Given the description of an element on the screen output the (x, y) to click on. 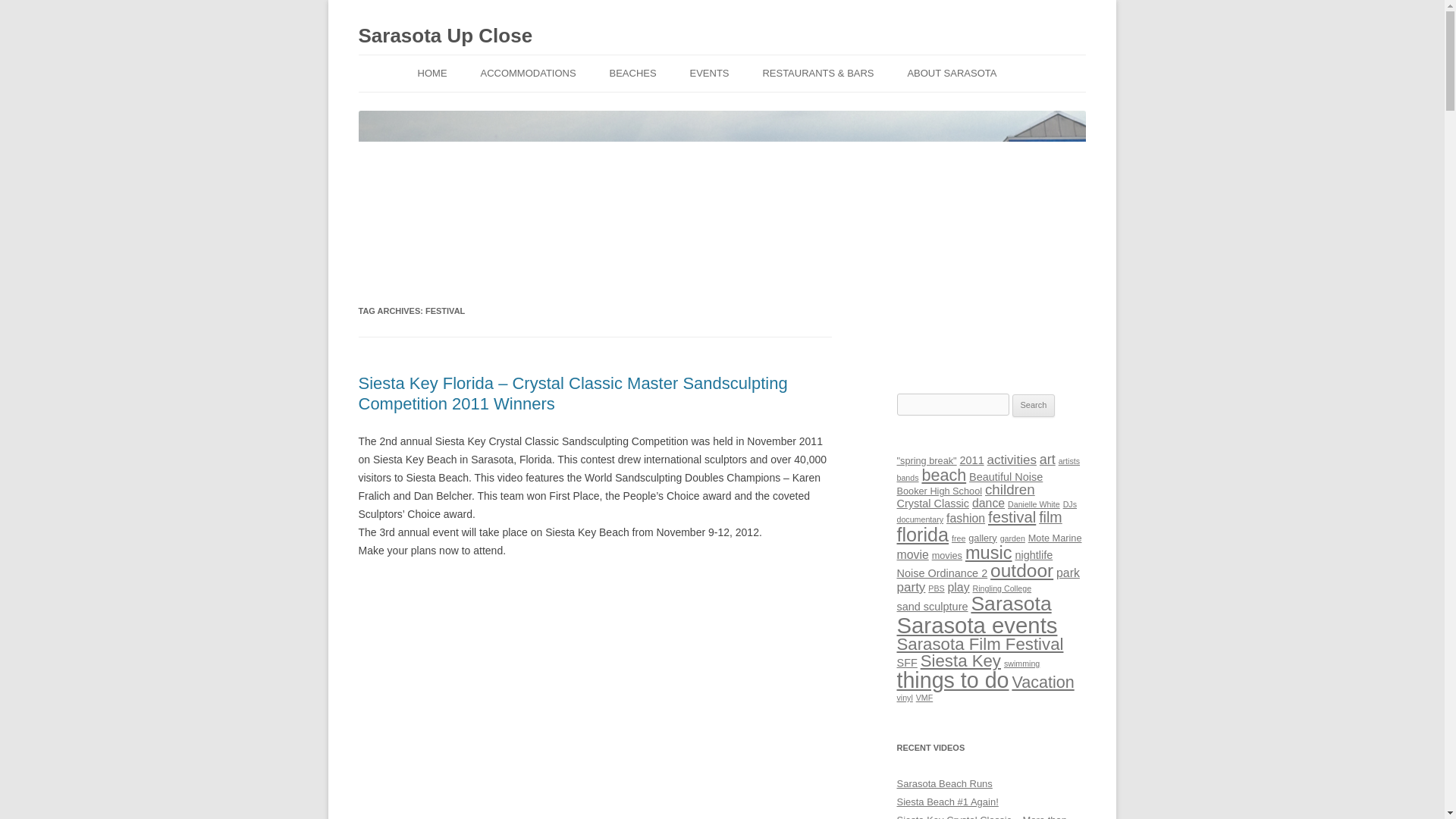
EVENTS (709, 73)
BEACHES (633, 73)
ABOUT SARASOTA (951, 73)
Sarasota Up Close (445, 36)
Sarasota Up Close (445, 36)
Search (1033, 404)
ACCOMMODATIONS (527, 73)
